Given the description of an element on the screen output the (x, y) to click on. 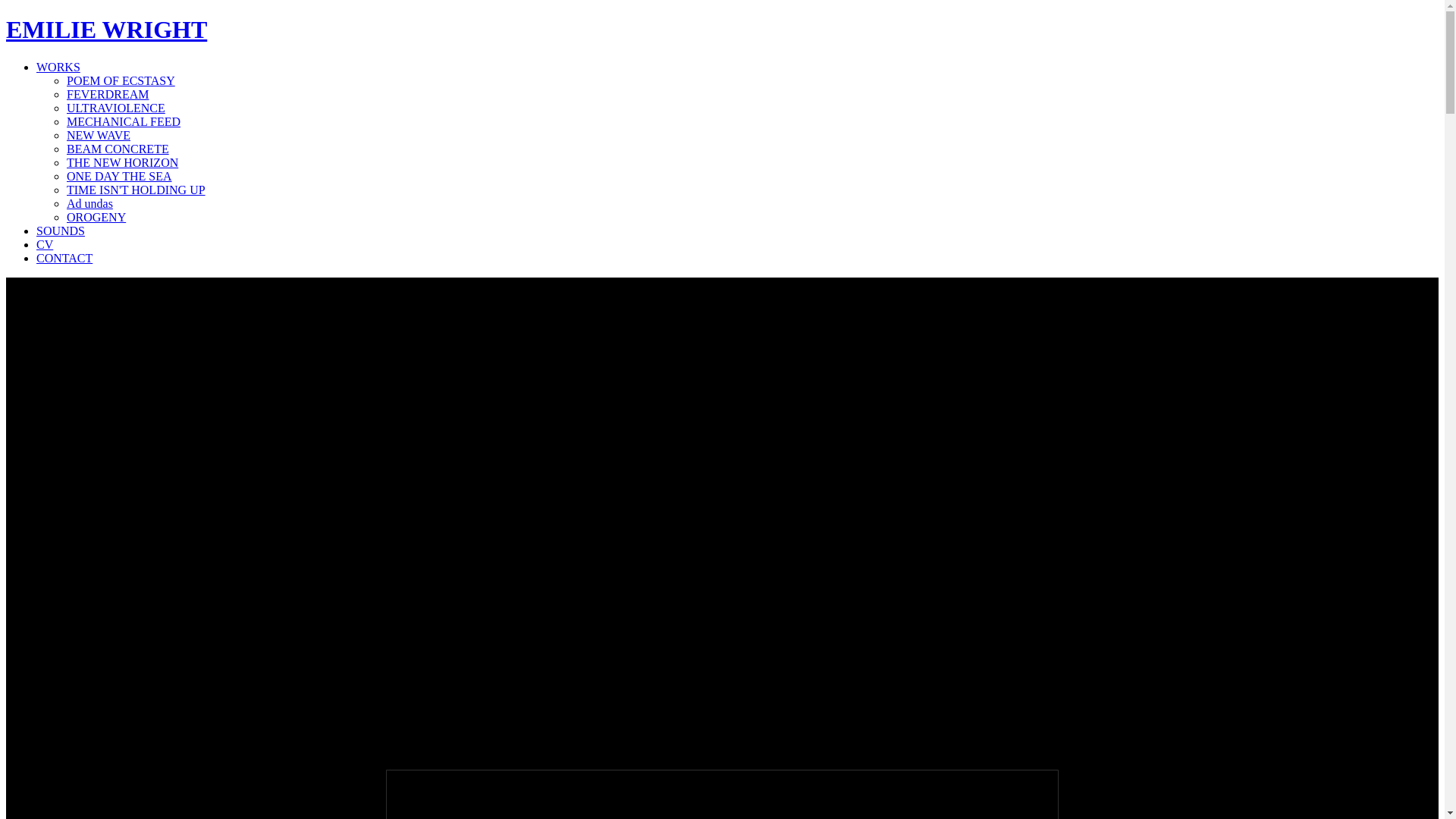
CV Element type: text (44, 244)
WORKS Element type: text (58, 66)
CONTACT Element type: text (64, 257)
FEVERDREAM Element type: text (107, 93)
SOUNDS Element type: text (60, 230)
ULTRAVIOLENCE Element type: text (115, 107)
NEW WAVE Element type: text (98, 134)
BEAM CONCRETE Element type: text (117, 148)
EMILIE WRIGHT Element type: text (106, 29)
THE NEW HORIZON Element type: text (122, 162)
MECHANICAL FEED Element type: text (123, 121)
OROGENY Element type: text (95, 216)
ONE DAY THE SEA Element type: text (119, 175)
Ad undas Element type: text (89, 203)
TIME ISN'T HOLDING UP Element type: text (135, 189)
POEM OF ECSTASY Element type: text (120, 80)
